Given the description of an element on the screen output the (x, y) to click on. 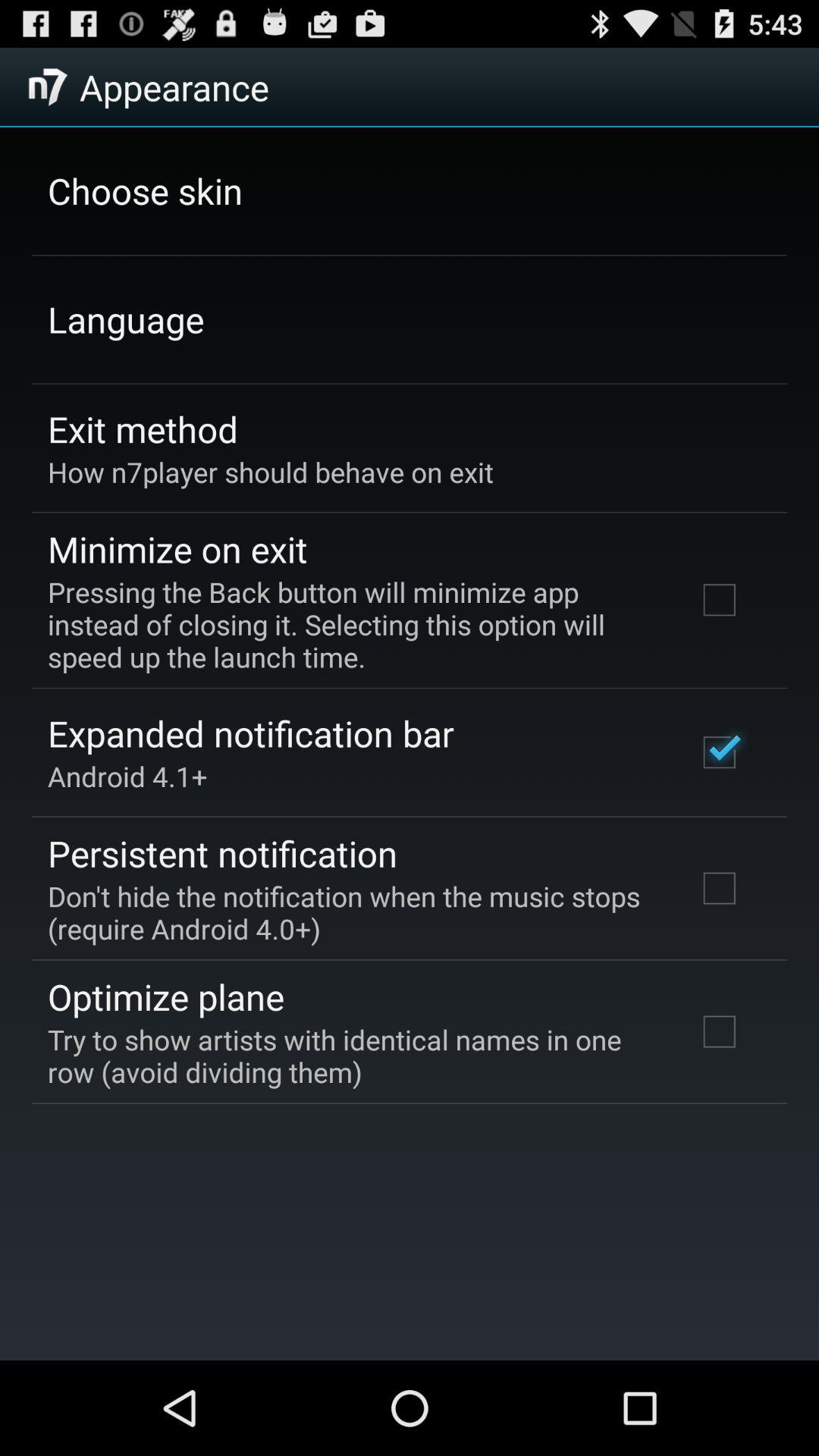
click the app above expanded notification bar (351, 624)
